Given the description of an element on the screen output the (x, y) to click on. 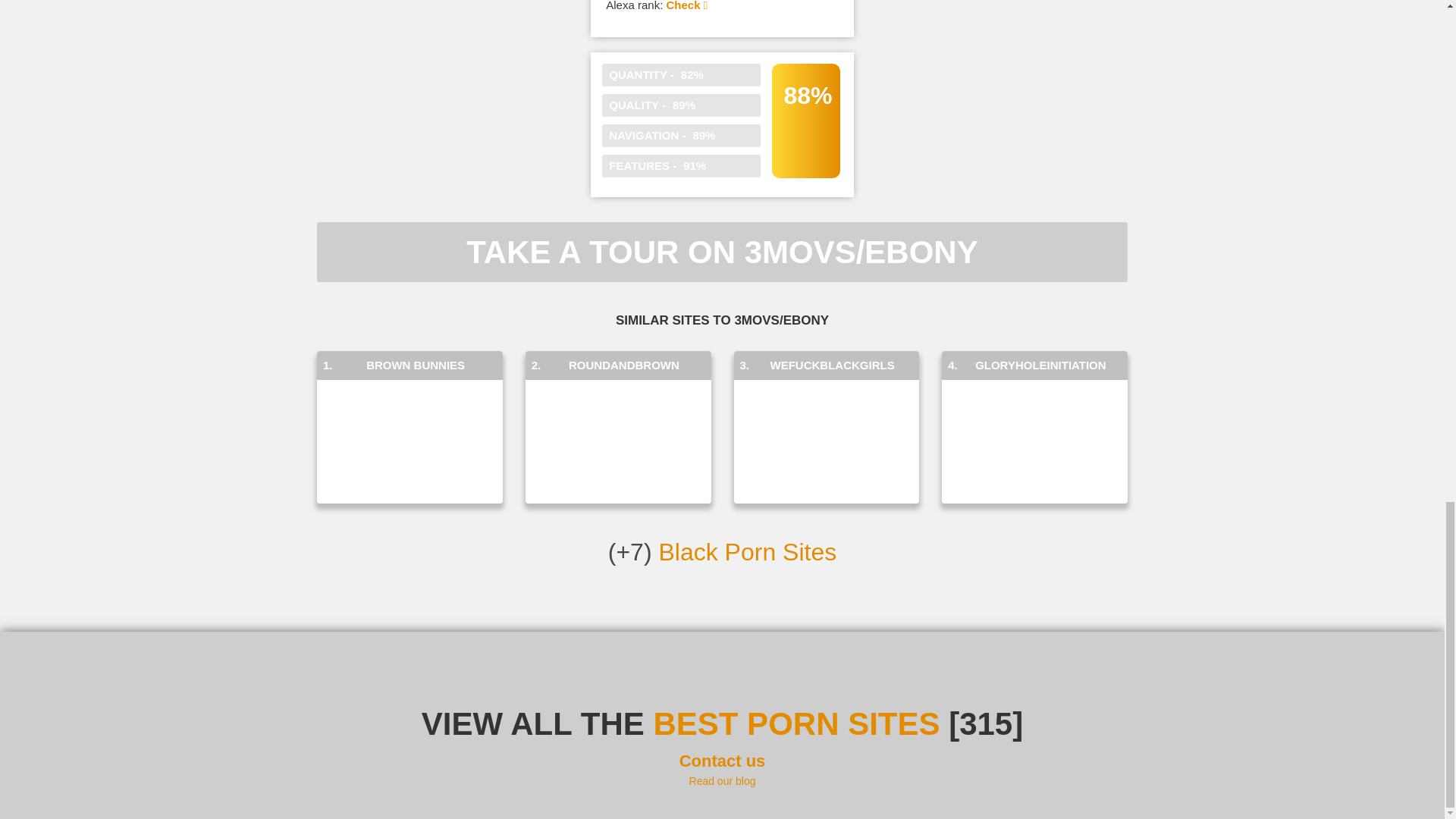
Contact us (722, 760)
BEST PORN SITES (795, 723)
Black Porn Sites (746, 551)
Read our blog (721, 780)
BROWN BUNNIES (415, 364)
GLORYHOLEINITIATION (1040, 364)
WEFUCKBLACKGIRLS (832, 364)
ROUNDANDBROWN (624, 364)
Check (686, 5)
